Given the description of an element on the screen output the (x, y) to click on. 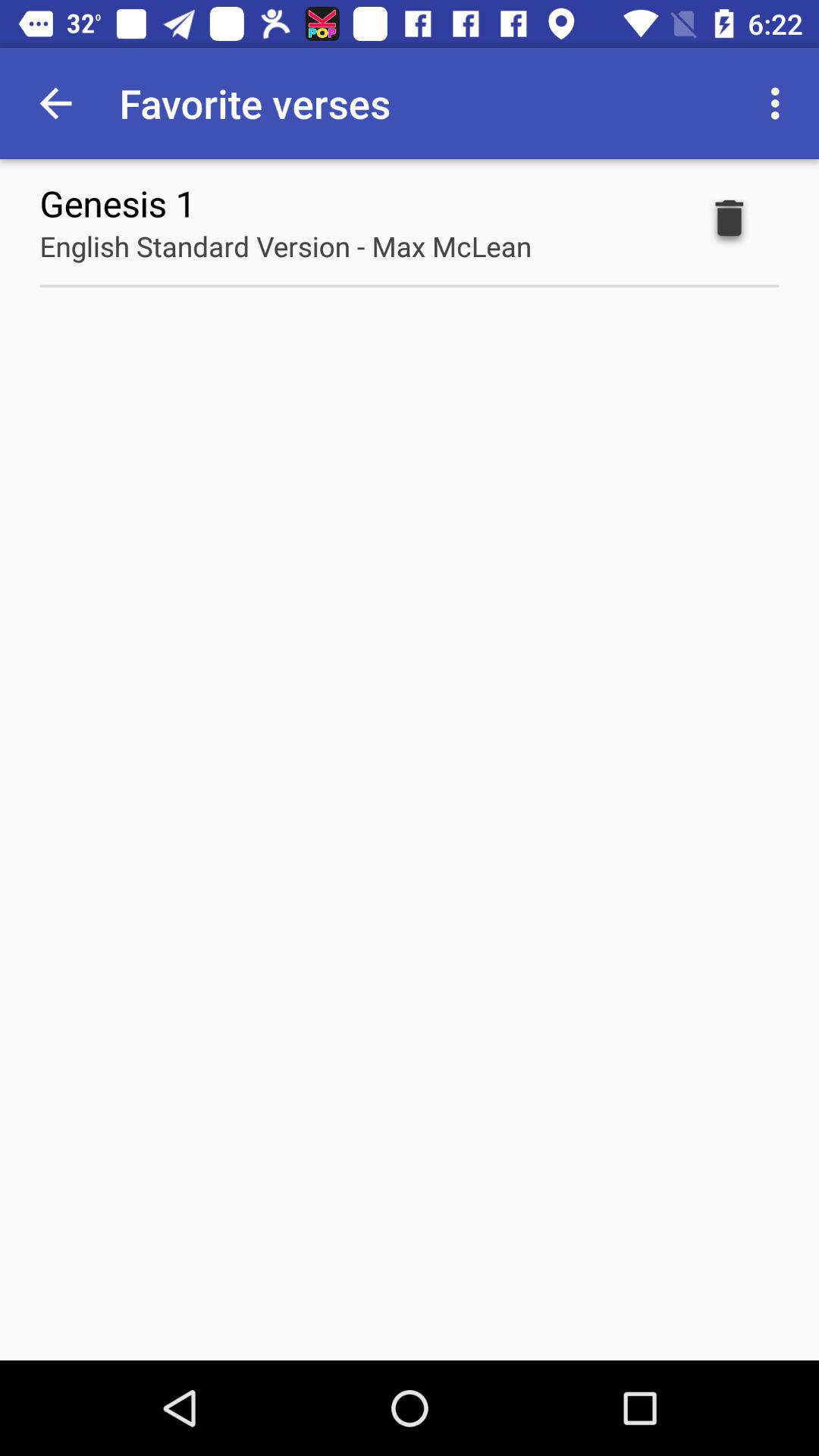
press the genesis 1 (117, 203)
